Given the description of an element on the screen output the (x, y) to click on. 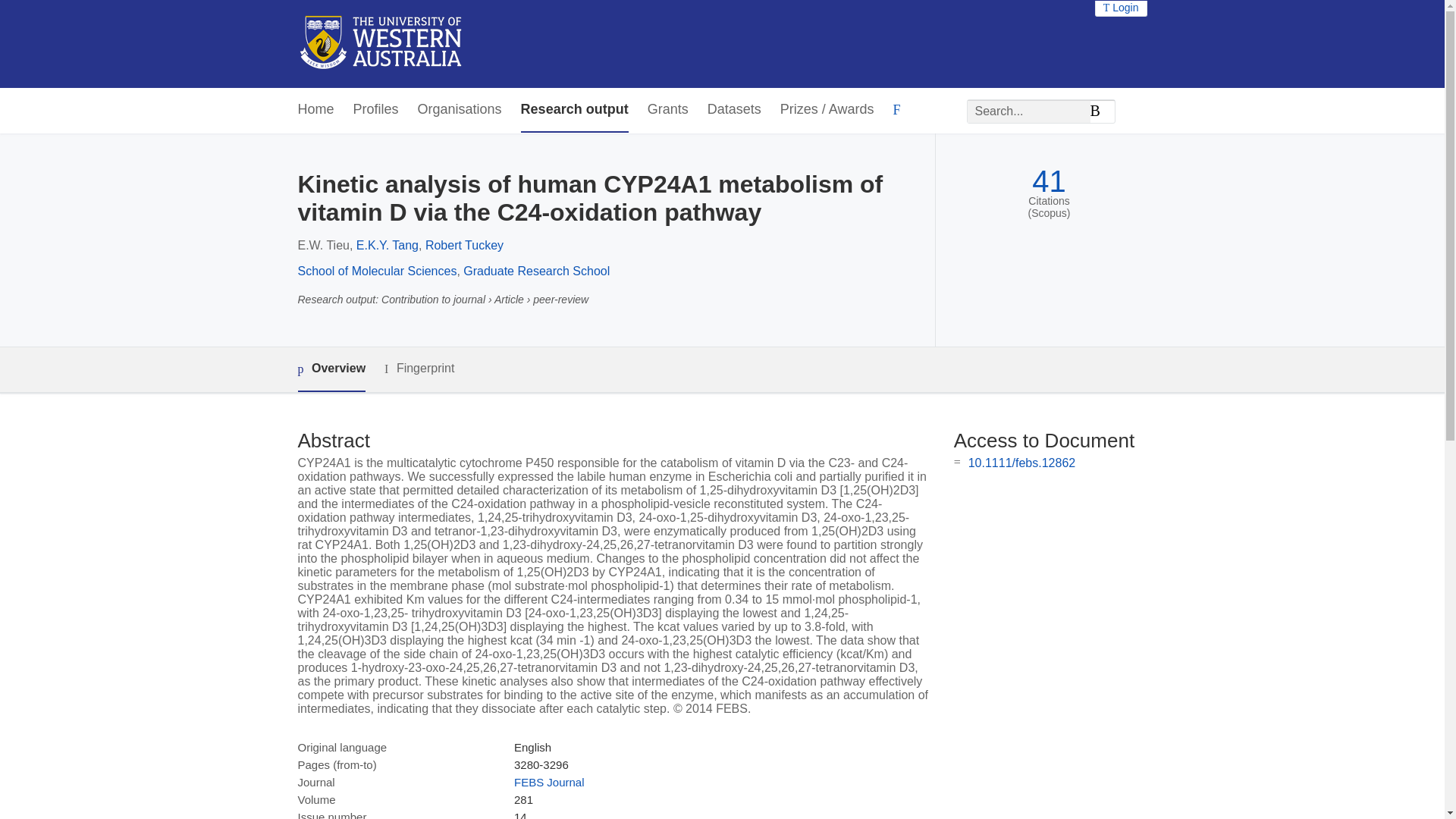
41 (1048, 181)
FEBS Journal (549, 781)
E.K.Y. Tang (387, 245)
School of Molecular Sciences (377, 270)
Overview (331, 369)
Profiles (375, 109)
Robert Tuckey (464, 245)
Graduate Research School (536, 270)
Datasets (734, 109)
Grants (667, 109)
Organisations (459, 109)
Fingerprint (419, 368)
Login (1121, 7)
the UWA Profiles and Research Repository Home (380, 43)
